Given the description of an element on the screen output the (x, y) to click on. 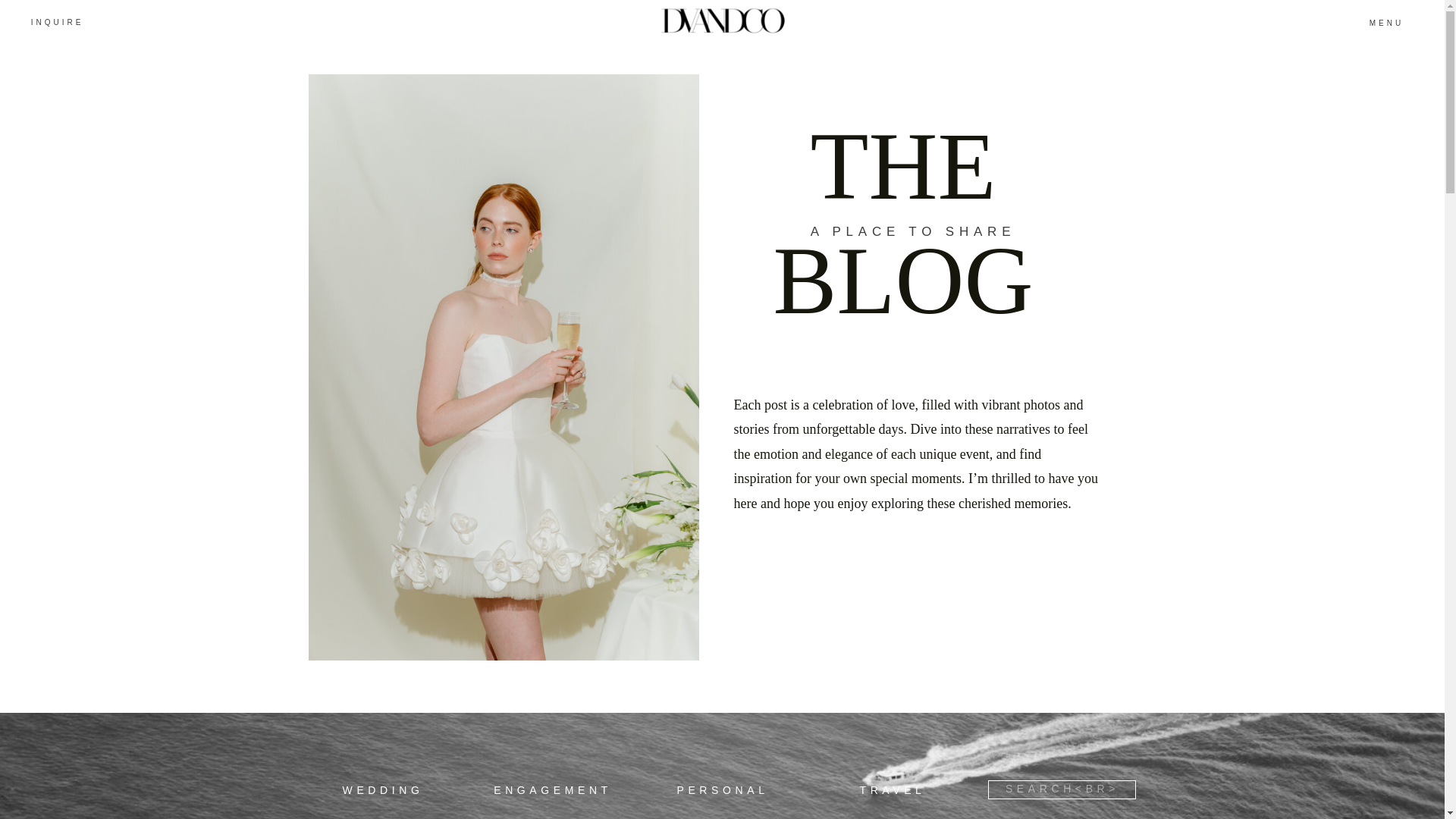
INQUIRE (57, 21)
